Given the description of an element on the screen output the (x, y) to click on. 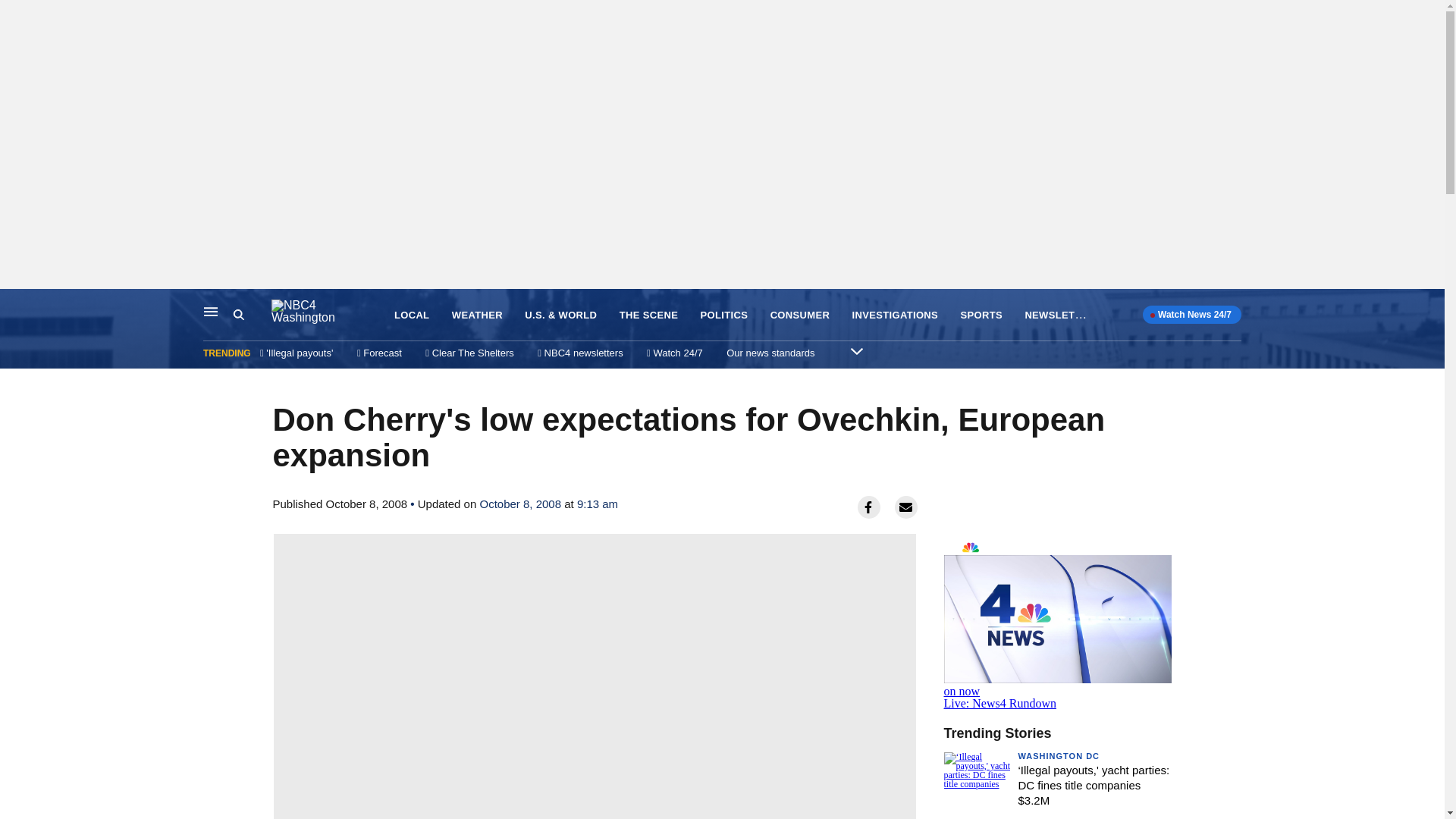
SPORTS (980, 315)
Search (238, 314)
THE SCENE (649, 315)
Our news standards (769, 352)
WEATHER (476, 315)
Expand (856, 350)
Search (252, 314)
Main Navigation (210, 311)
NEWSLETTERS (1063, 314)
LOCAL (411, 315)
